Given the description of an element on the screen output the (x, y) to click on. 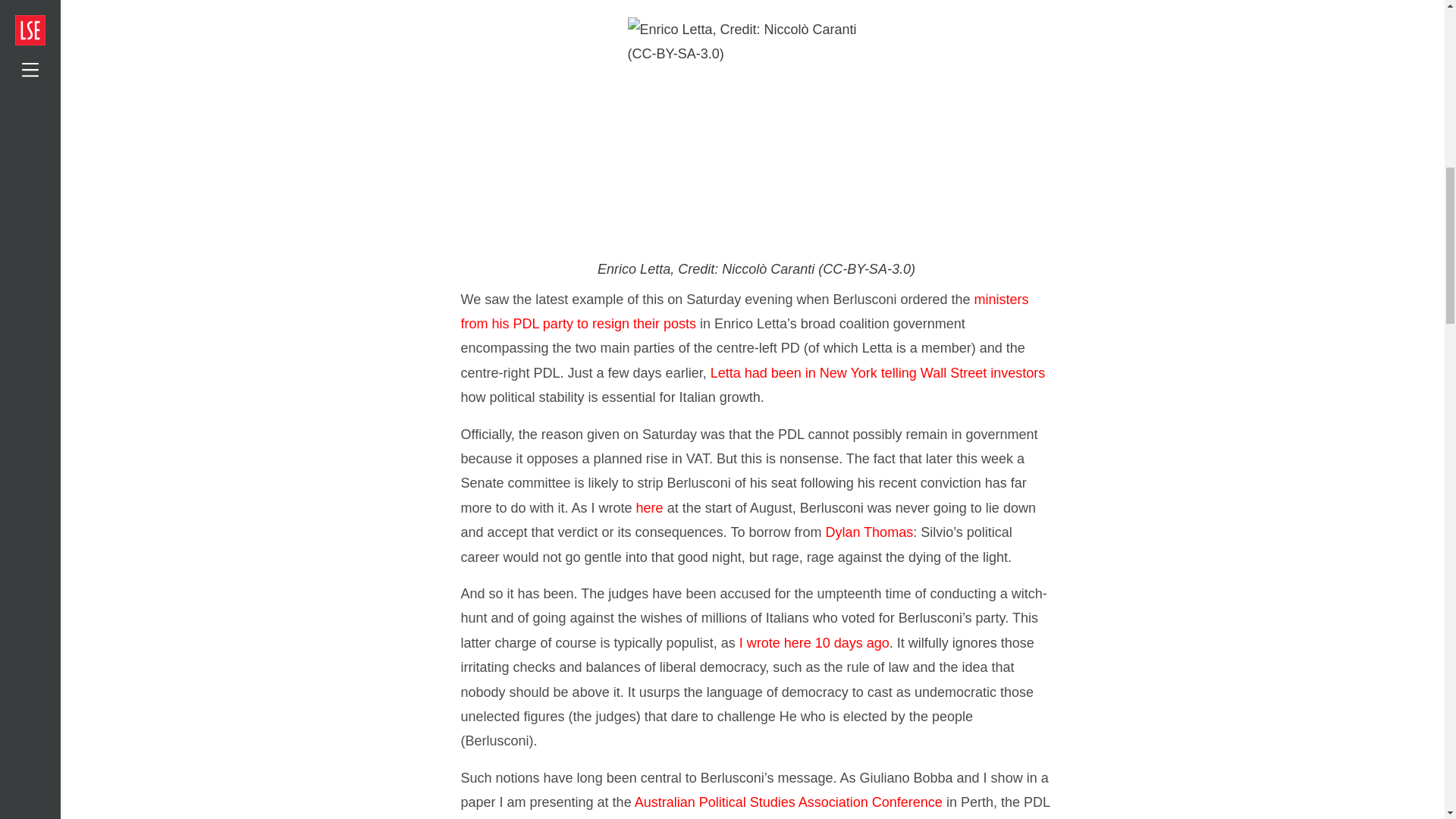
I wrote here 10 days ago (814, 642)
Australian Political Studies Association Conference (788, 801)
here (649, 507)
Letta had been in New York telling Wall Street investors (877, 372)
ministers from his PDL party to resign their posts (745, 311)
Dylan Thomas (868, 531)
